Given the description of an element on the screen output the (x, y) to click on. 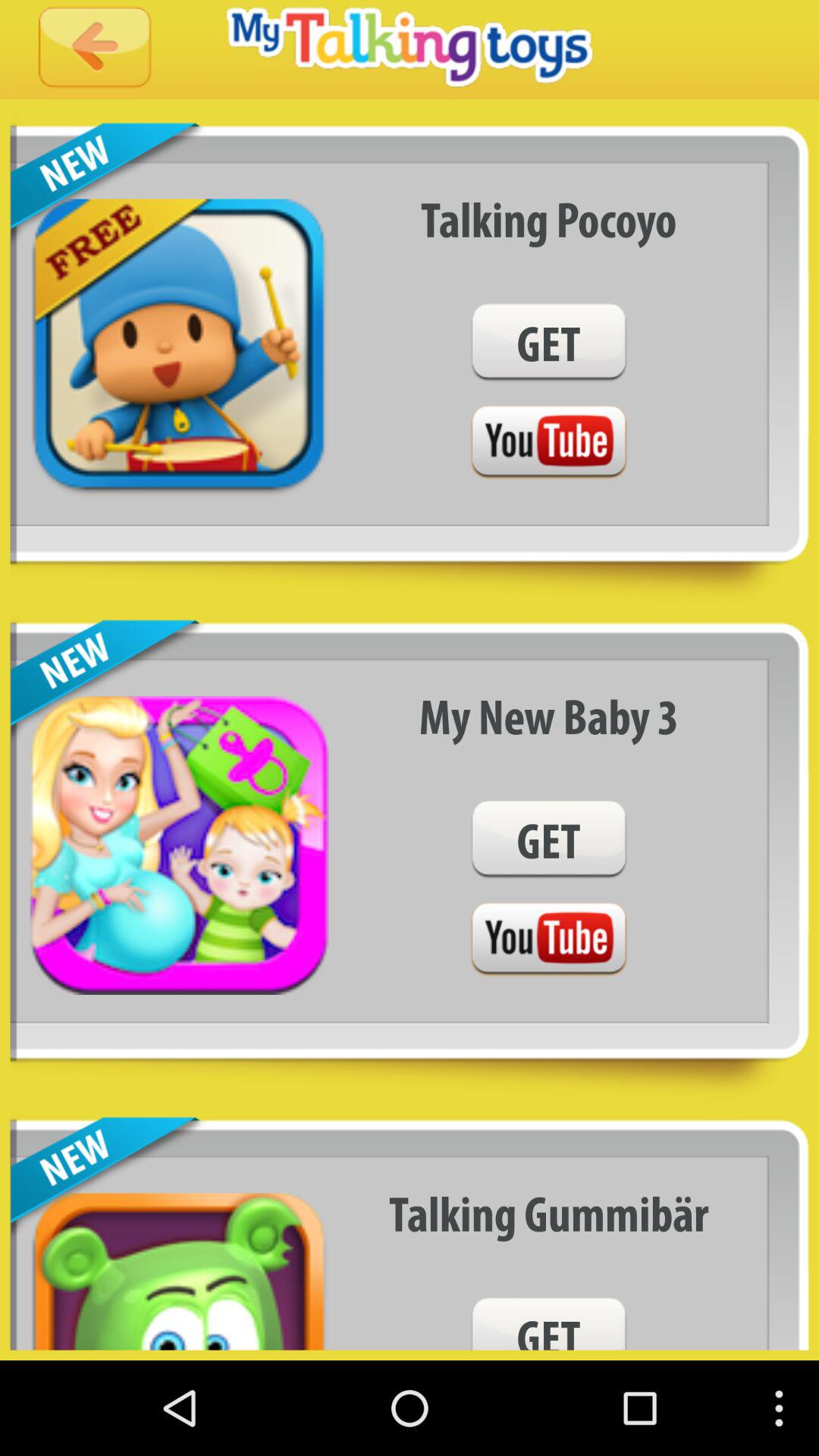
toggle video (548, 939)
